Given the description of an element on the screen output the (x, y) to click on. 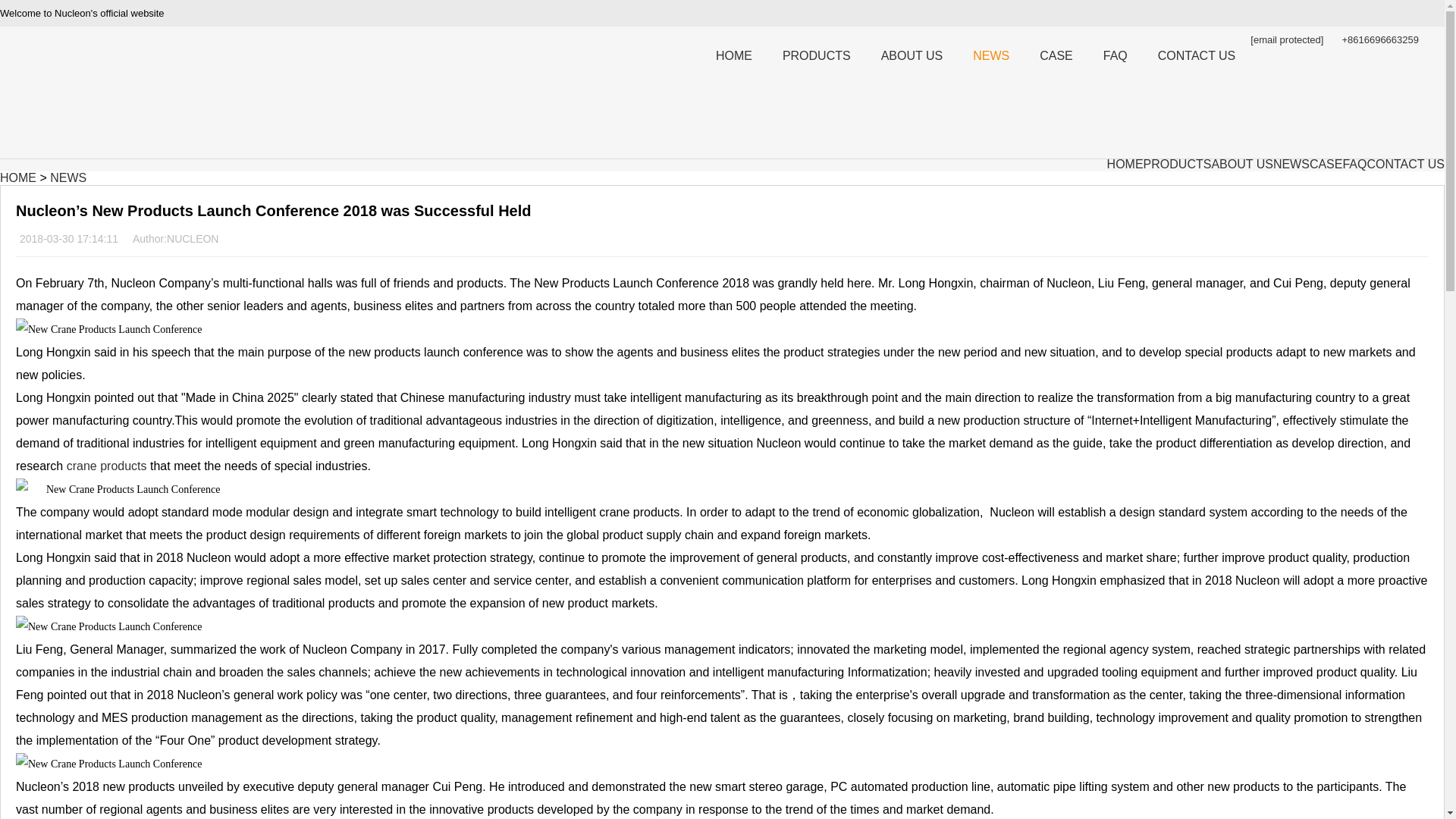
HOME (733, 55)
New Crane Products Launch Conference (109, 763)
New Crane Products Launch Conference (117, 489)
Nucleon crane (75, 130)
CONTACT US (1196, 55)
HOME (18, 177)
CASE (1056, 55)
PRODUCTS (1176, 164)
crane products (106, 465)
NEWS (991, 55)
ABOUT US (1241, 164)
HOME (1124, 164)
FAQ (1354, 164)
FAQ (1114, 55)
NEWS (67, 177)
